Given the description of an element on the screen output the (x, y) to click on. 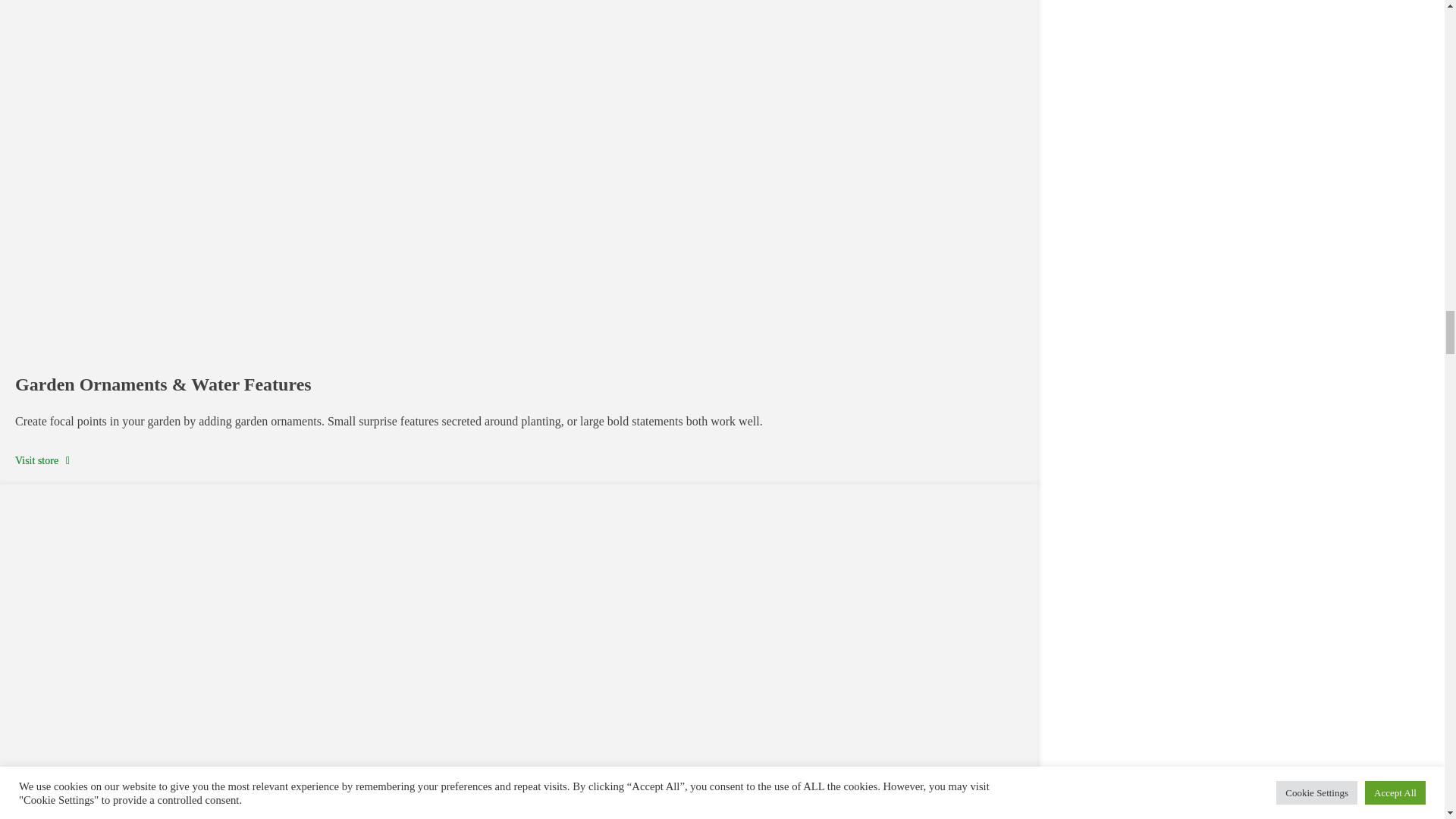
Visit store (41, 460)
